Given the description of an element on the screen output the (x, y) to click on. 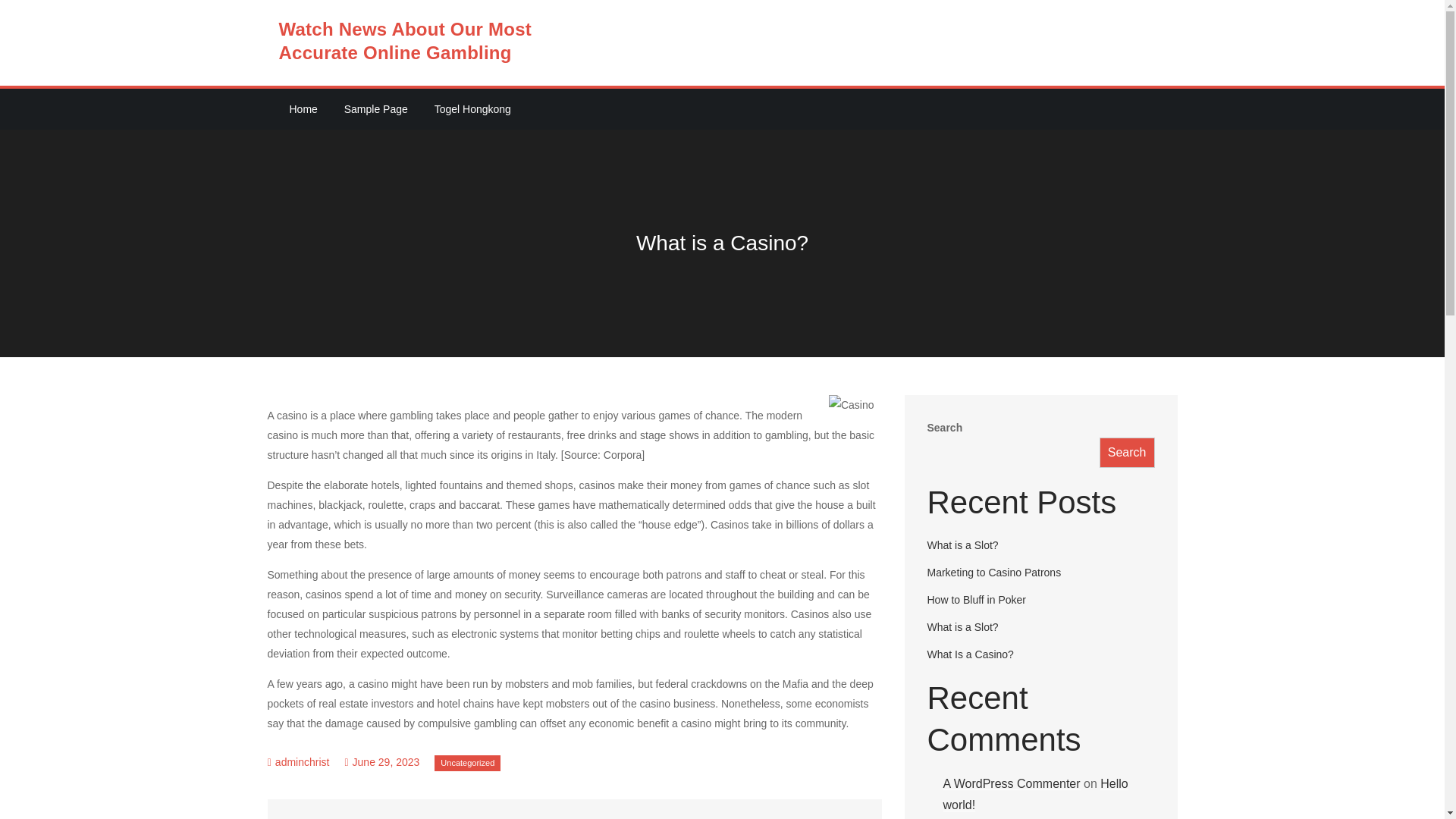
Search (1126, 452)
Sample Page (376, 108)
Home (304, 108)
June 29, 2023 (381, 761)
What is Poker? (421, 816)
What is a Slot? (725, 816)
Marketing to Casino Patrons (993, 572)
Uncategorized (466, 763)
Watch News About Our Most Accurate Online Gambling (405, 40)
How to Bluff in Poker (975, 599)
What is a Slot? (961, 544)
adminchrist (302, 761)
Hello world! (1035, 794)
What is a Slot? (961, 626)
Togel Hongkong (472, 108)
